Given the description of an element on the screen output the (x, y) to click on. 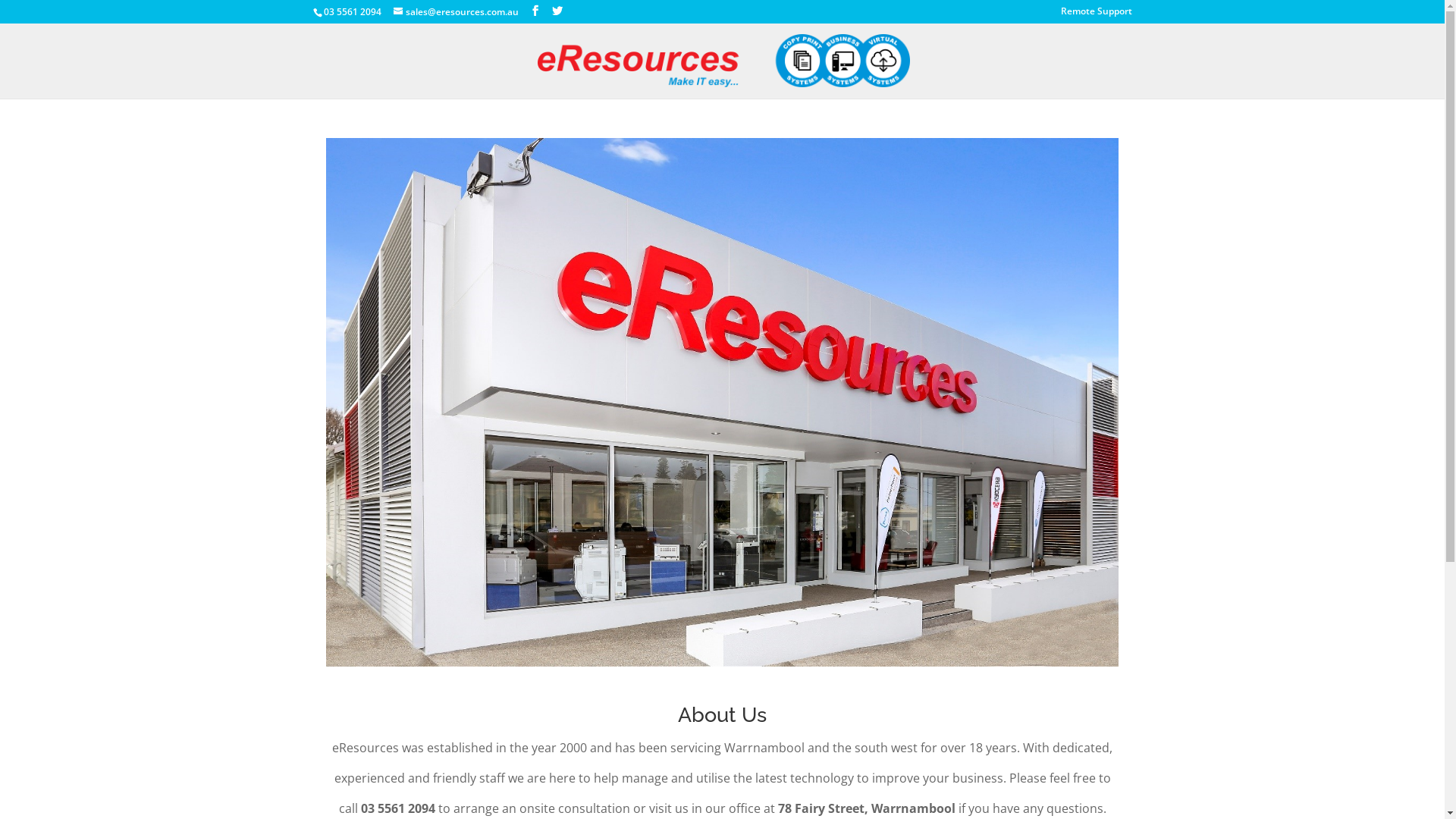
Remote Support Element type: text (1095, 14)
03 5561 2094 Element type: text (351, 11)
sales@eresources.com.au Element type: text (454, 11)
